Given the description of an element on the screen output the (x, y) to click on. 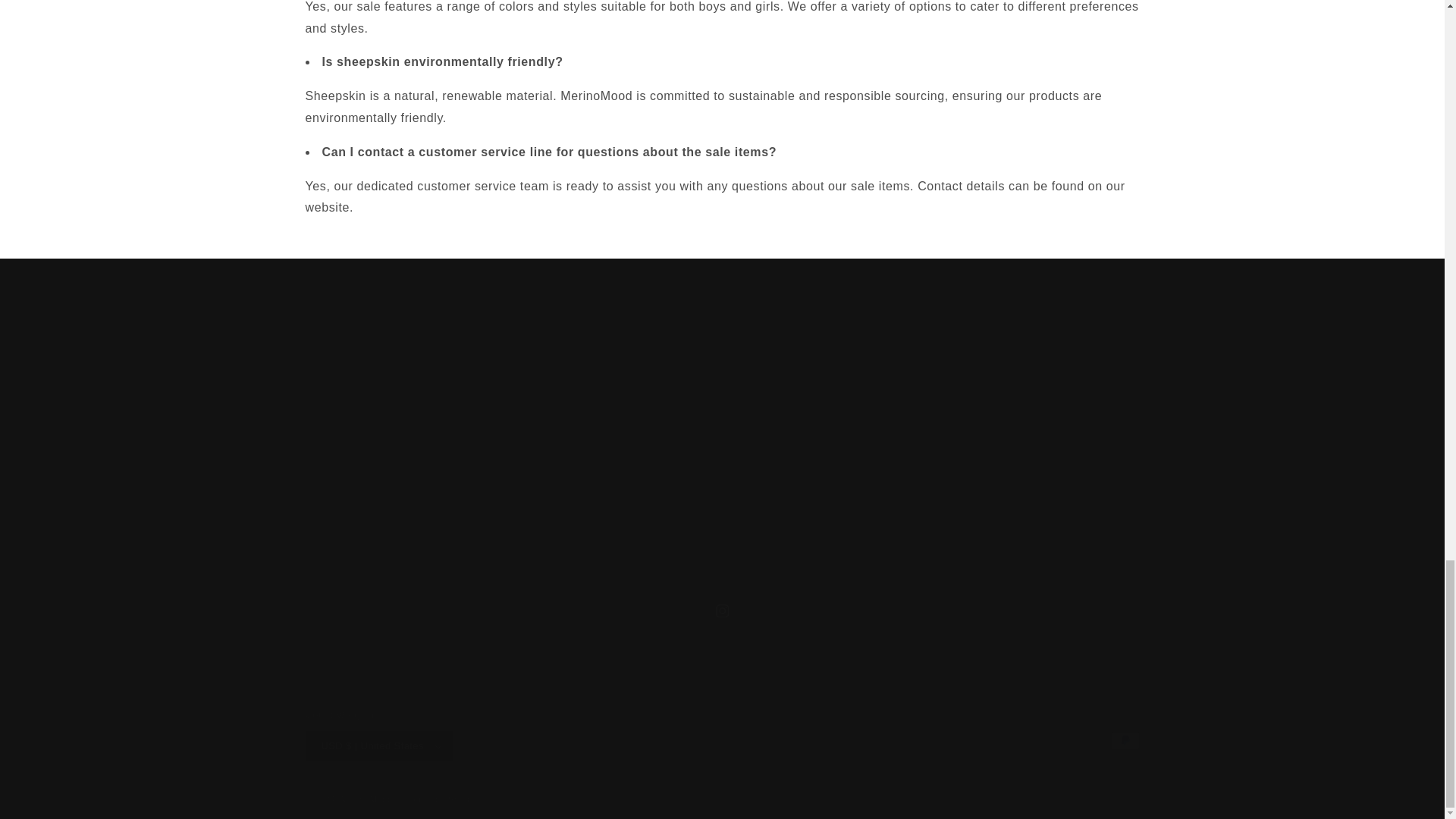
Instagram (721, 611)
